Given the description of an element on the screen output the (x, y) to click on. 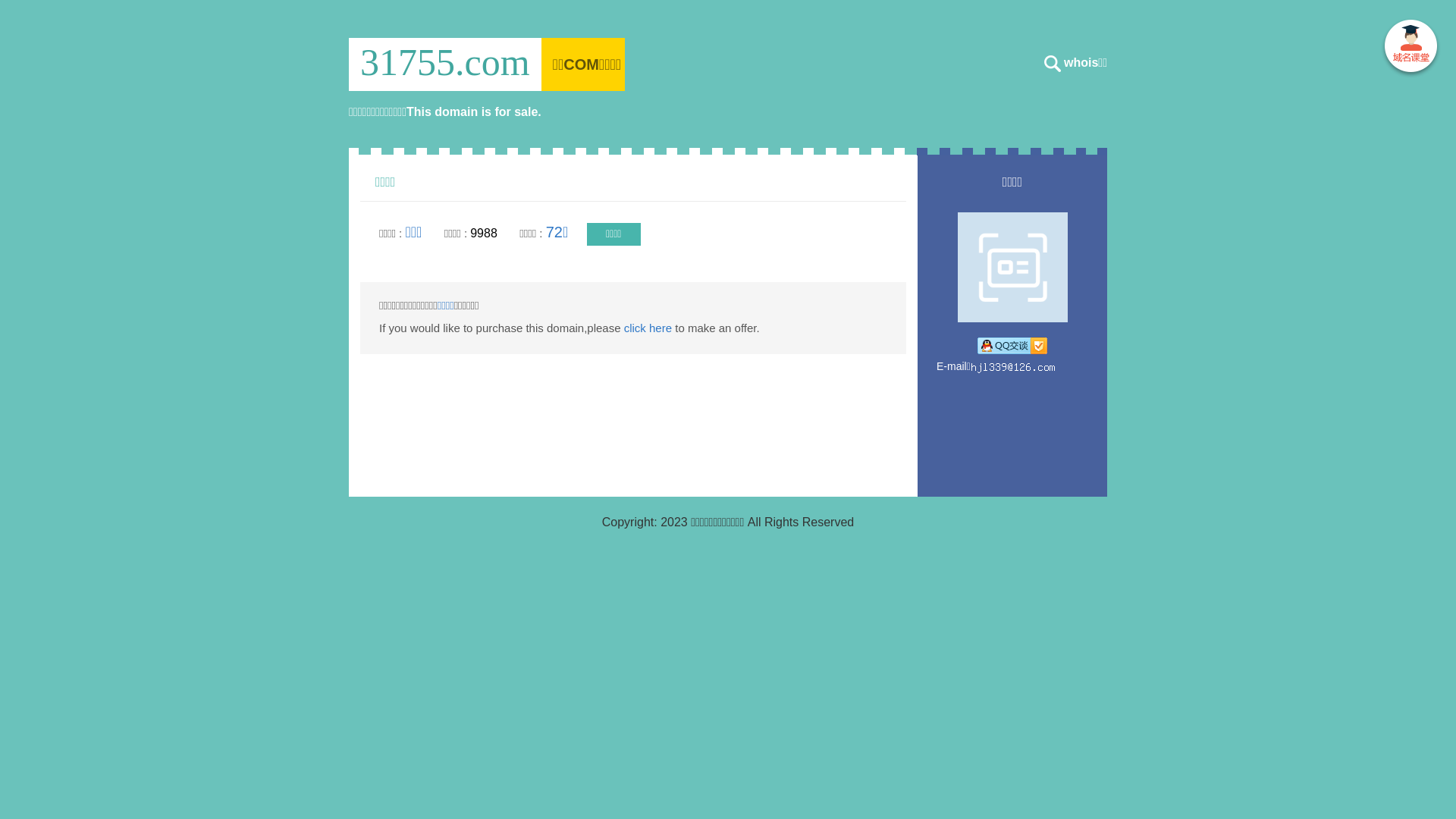
click here Element type: text (647, 327)
  Element type: text (1410, 48)
